Given the description of an element on the screen output the (x, y) to click on. 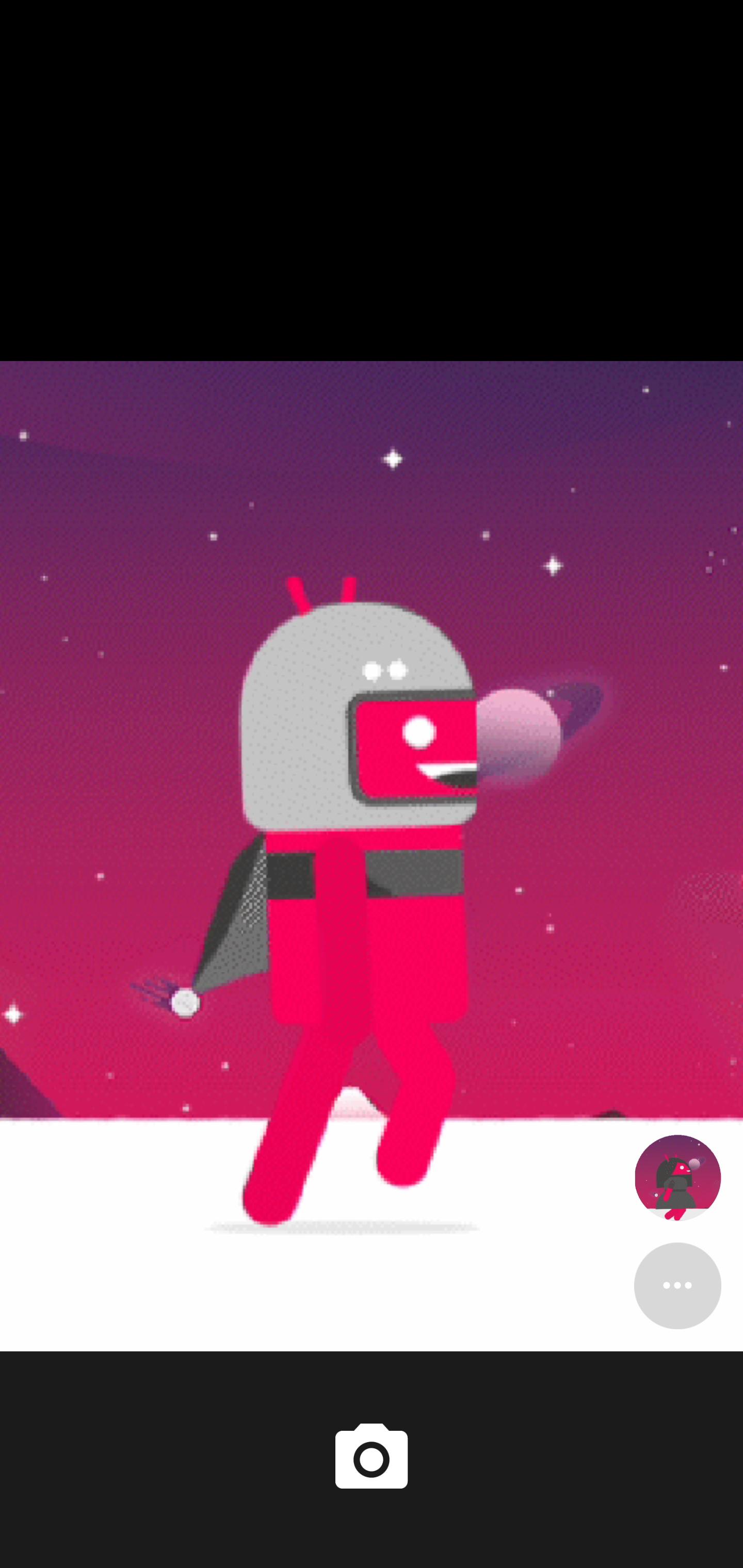
Options (677, 1285)
Shutter (371, 1459)
